Given the description of an element on the screen output the (x, y) to click on. 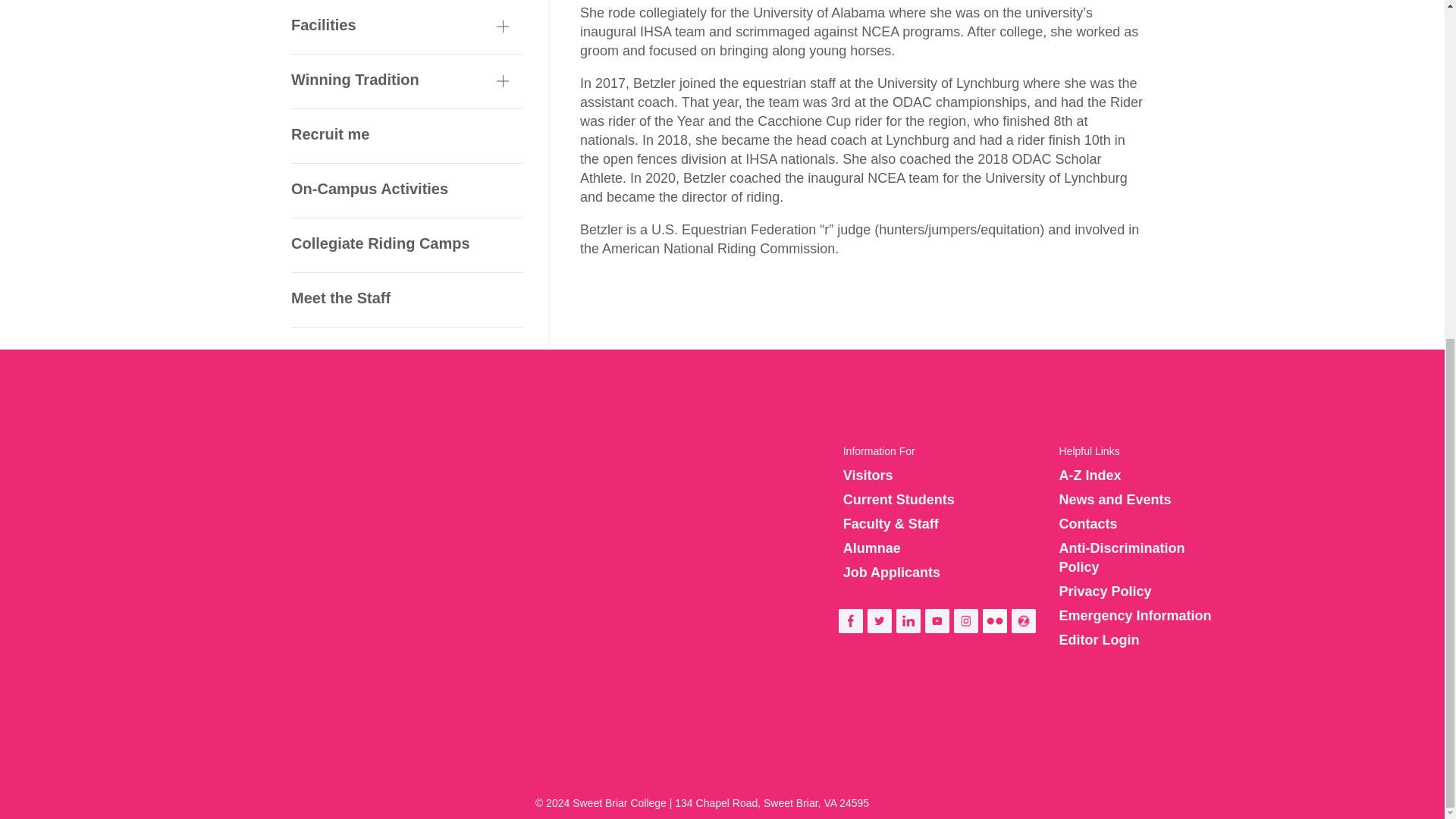
Visitors (868, 475)
Meet the Staff (406, 2)
Alumnae (872, 548)
Current Students (899, 499)
